Given the description of an element on the screen output the (x, y) to click on. 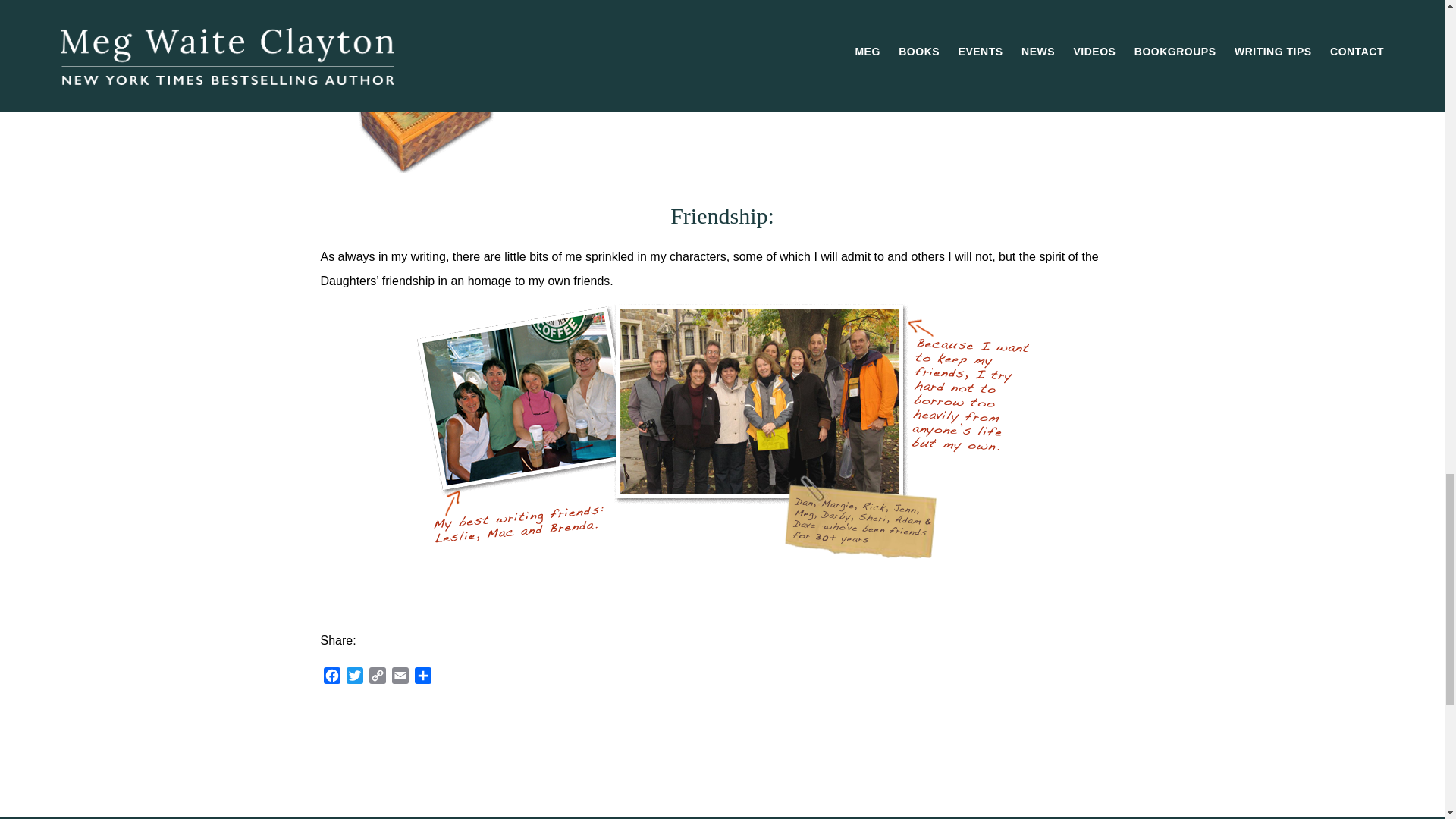
Email (399, 677)
Twitter (353, 677)
Copy Link (376, 677)
Facebook (331, 677)
